Given the description of an element on the screen output the (x, y) to click on. 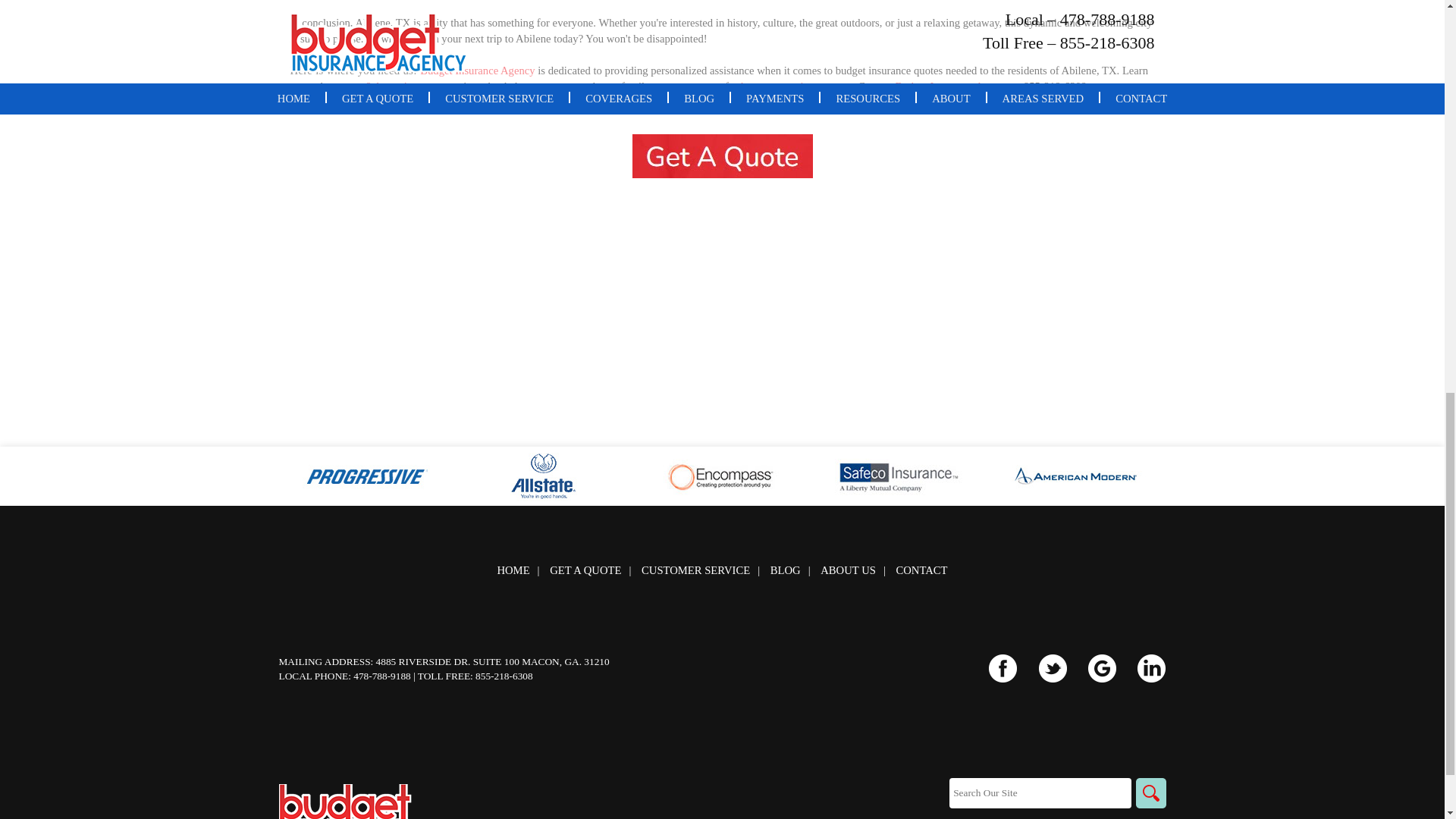
Get a Quote in Texas (721, 156)
Insurance Website Builder (1112, 818)
